Given the description of an element on the screen output the (x, y) to click on. 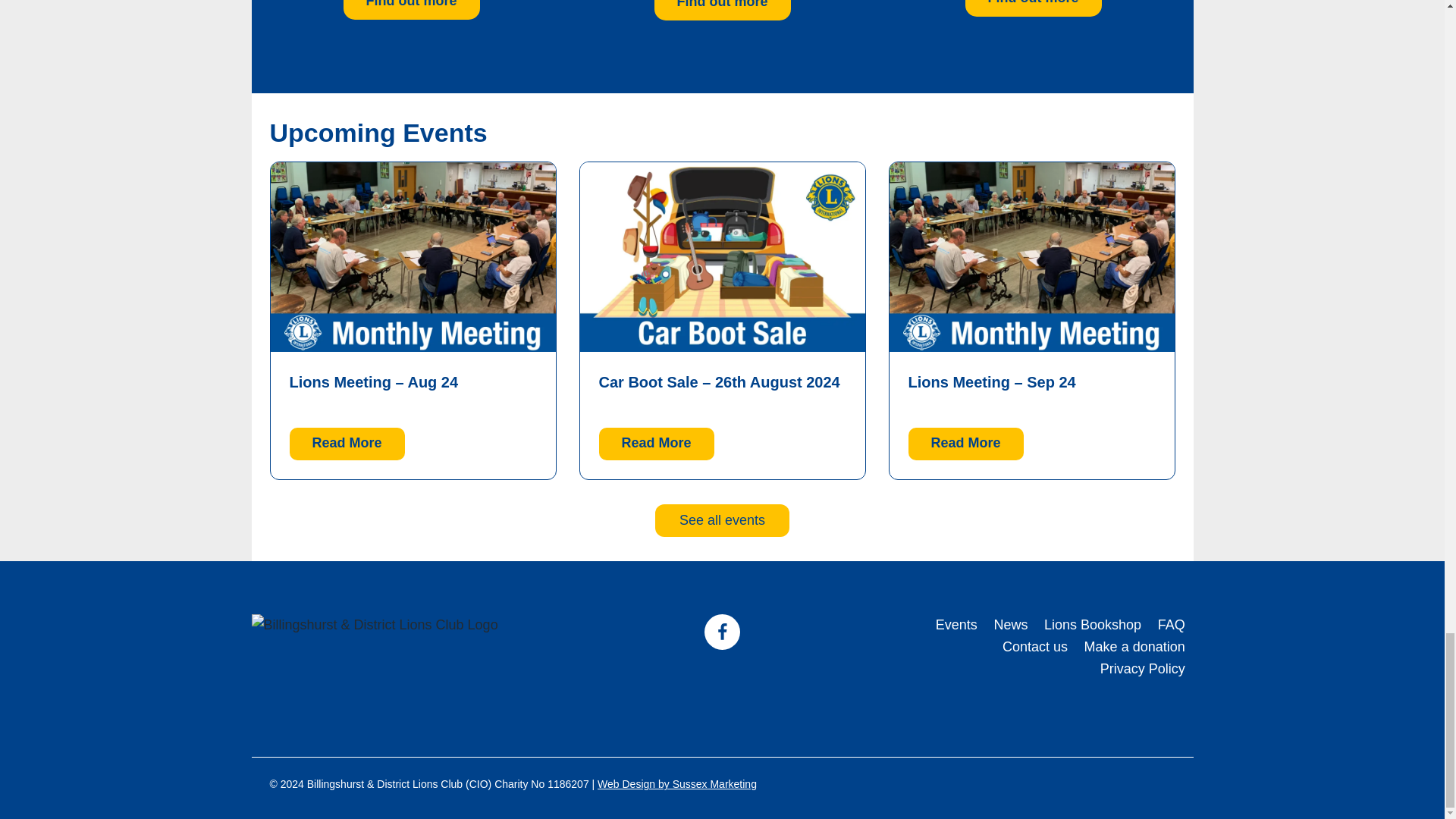
Find out more (721, 10)
Find out more (410, 9)
Find out more (1031, 8)
